Given the description of an element on the screen output the (x, y) to click on. 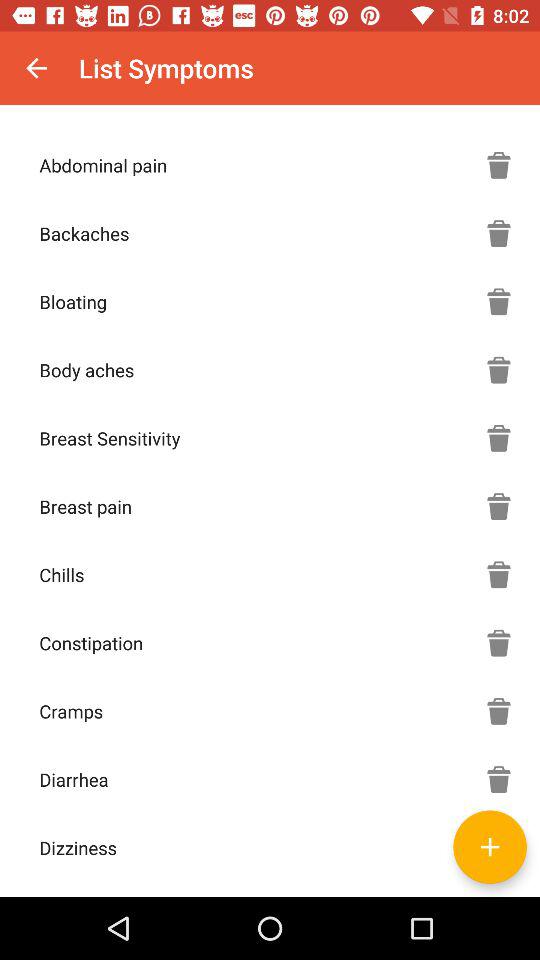
turn off icon next to the list symptoms icon (36, 68)
